Given the description of an element on the screen output the (x, y) to click on. 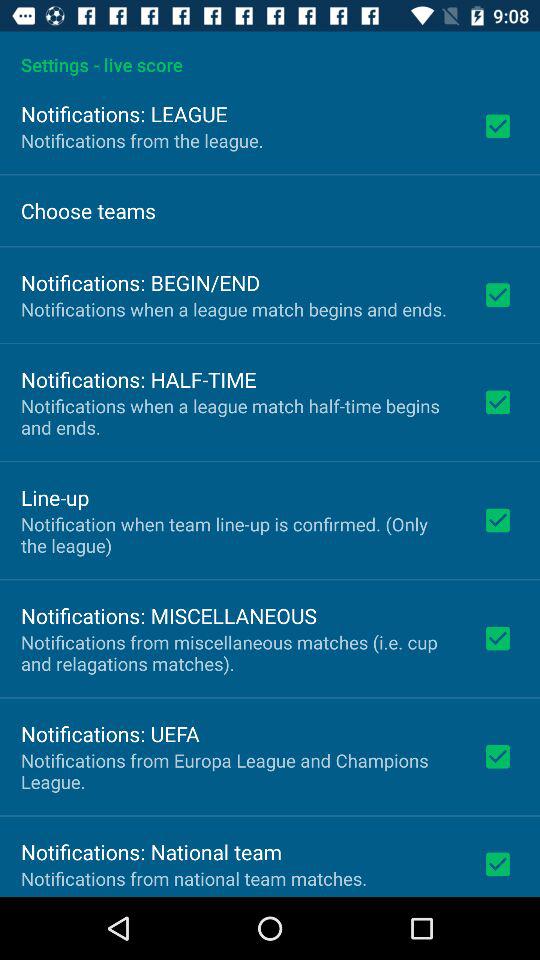
choose item above notifications: miscellaneous icon (238, 534)
